Given the description of an element on the screen output the (x, y) to click on. 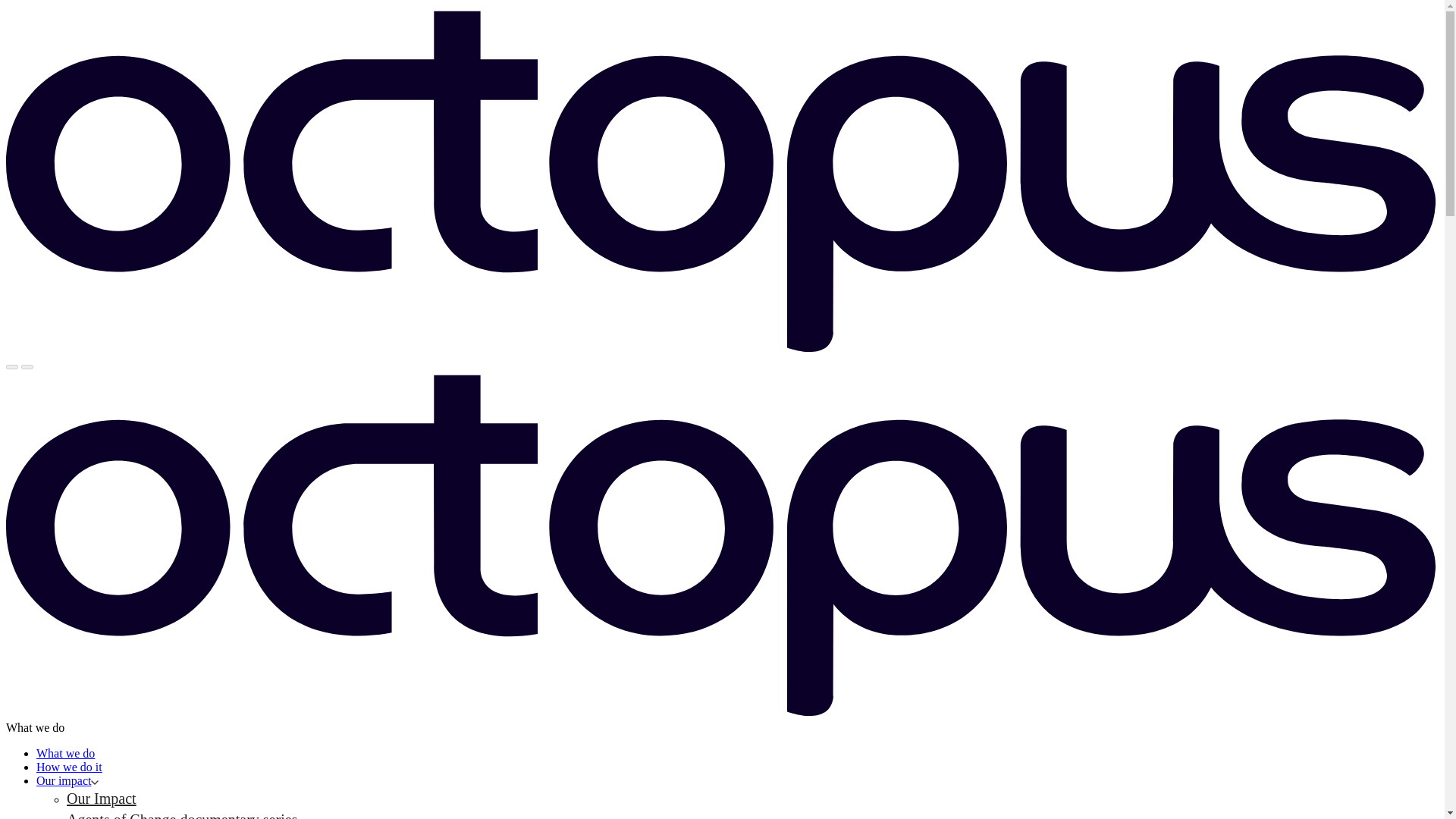
What we do (65, 753)
Agents of Change documentary series (181, 815)
Our impact (67, 780)
How we do it (68, 766)
Our Impact (101, 798)
